Given the description of an element on the screen output the (x, y) to click on. 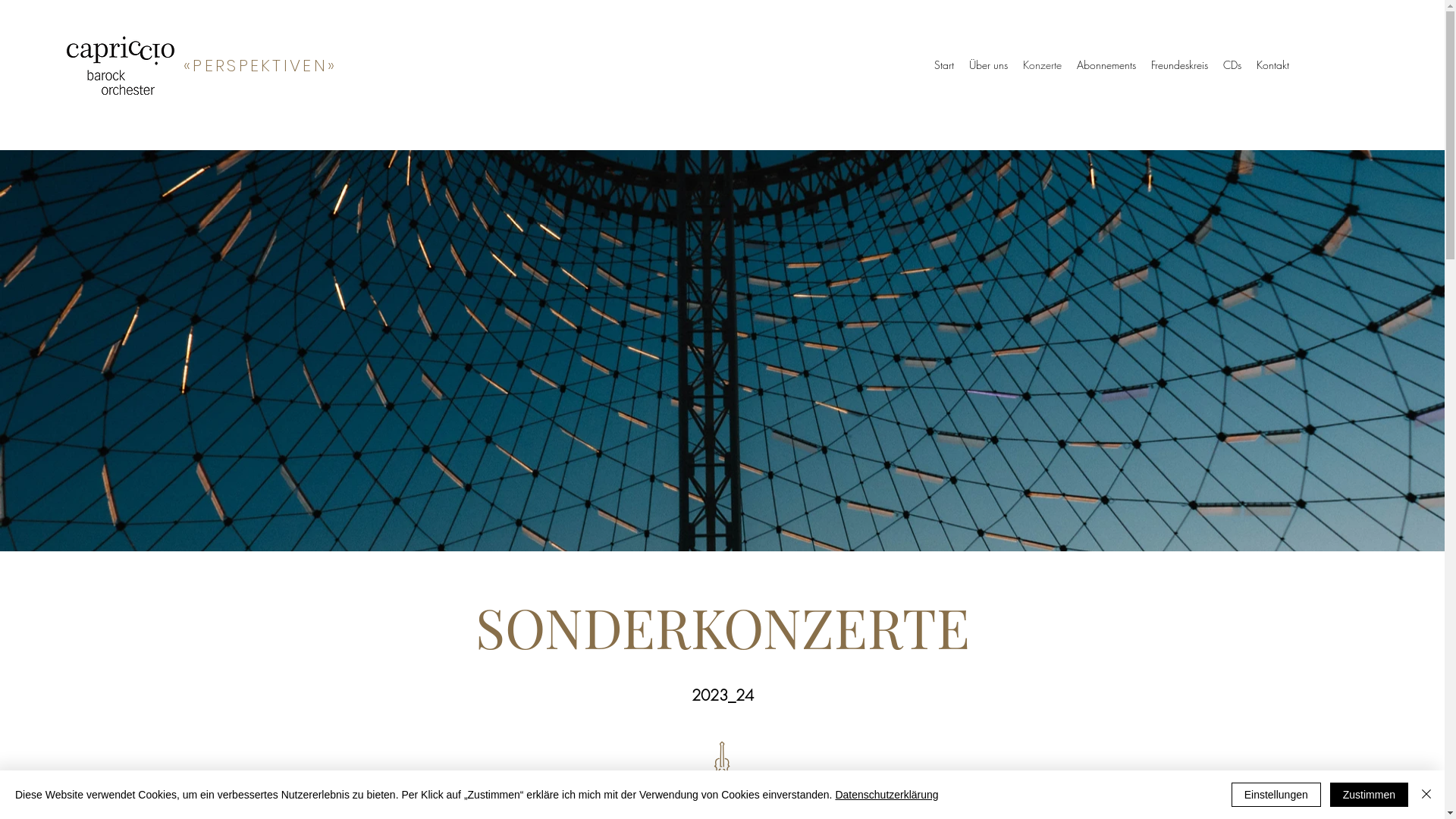
Start Element type: text (943, 64)
Kontakt Element type: text (1272, 64)
Konzerte Element type: text (1042, 64)
CDs Element type: text (1231, 64)
Zustimmen Element type: text (1369, 794)
PERSPEKTIVEN Element type: text (259, 65)
Abonnements Element type: text (1106, 64)
Freundeskreis Element type: text (1179, 64)
Einstellungen Element type: text (1276, 794)
